Given the description of an element on the screen output the (x, y) to click on. 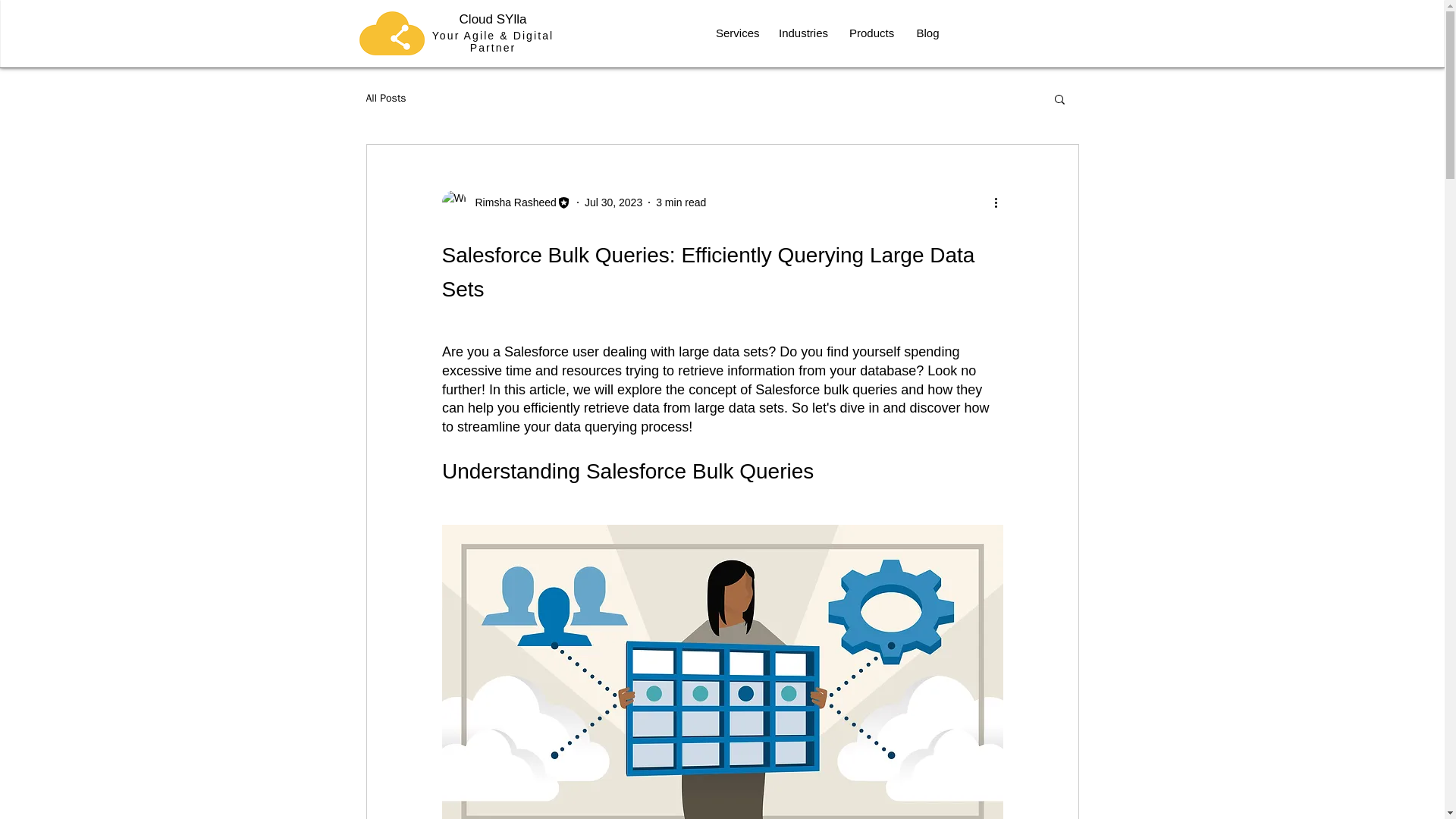
Cloud SYlla (493, 19)
Jul 30, 2023 (613, 201)
Products (871, 33)
Blog (927, 33)
Services (735, 33)
3 min read (681, 201)
All Posts (385, 98)
Rimsha Rasheed (505, 202)
Rimsha Rasheed (510, 201)
Industries (802, 33)
